Given the description of an element on the screen output the (x, y) to click on. 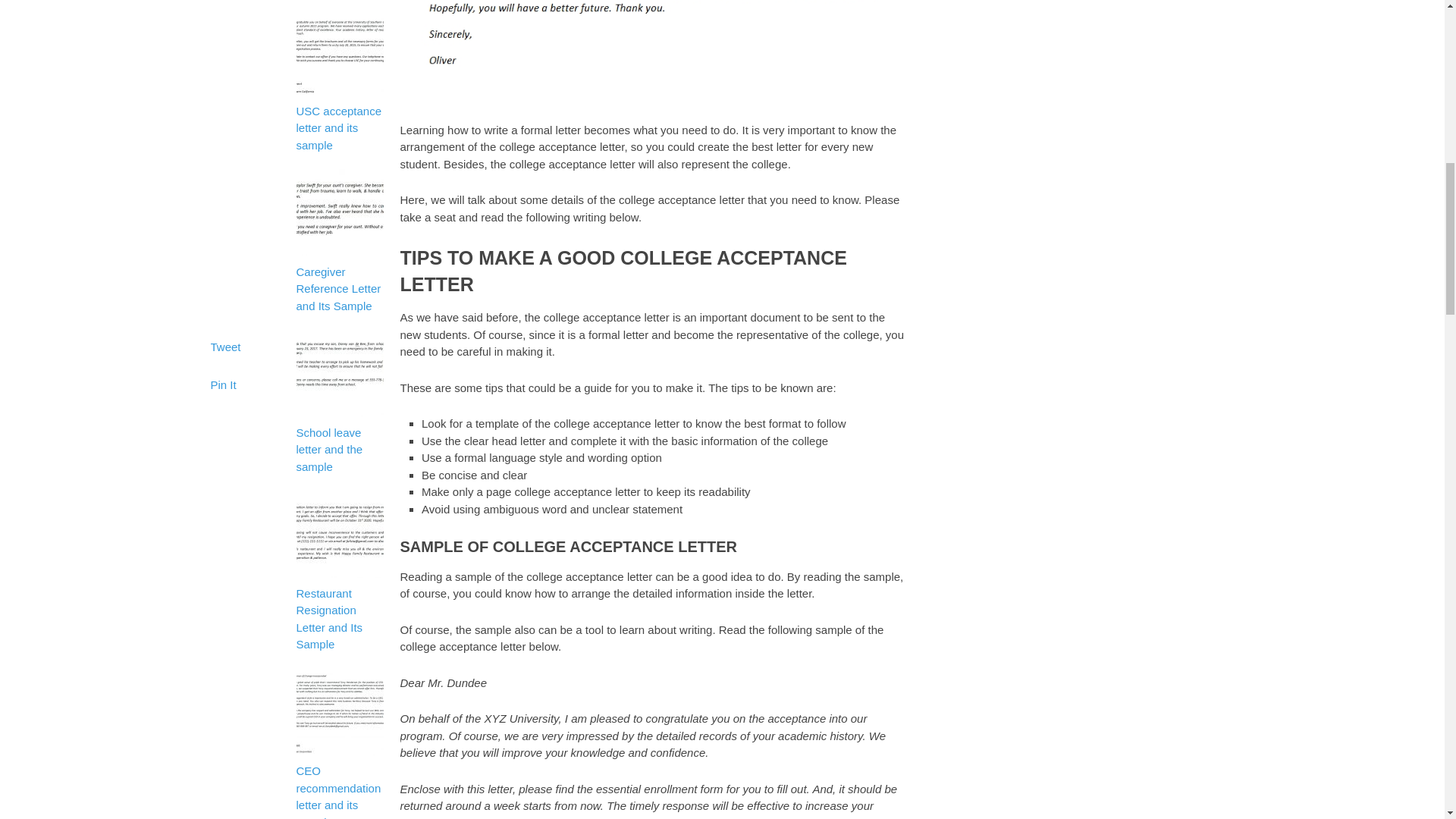
School leave letter and the sample  (338, 440)
Caregiver Reference Letter and Its Sample (338, 280)
USC acceptance letter and its sample  (338, 118)
Restaurant Resignation Letter and Its Sample (338, 609)
